Given the description of an element on the screen output the (x, y) to click on. 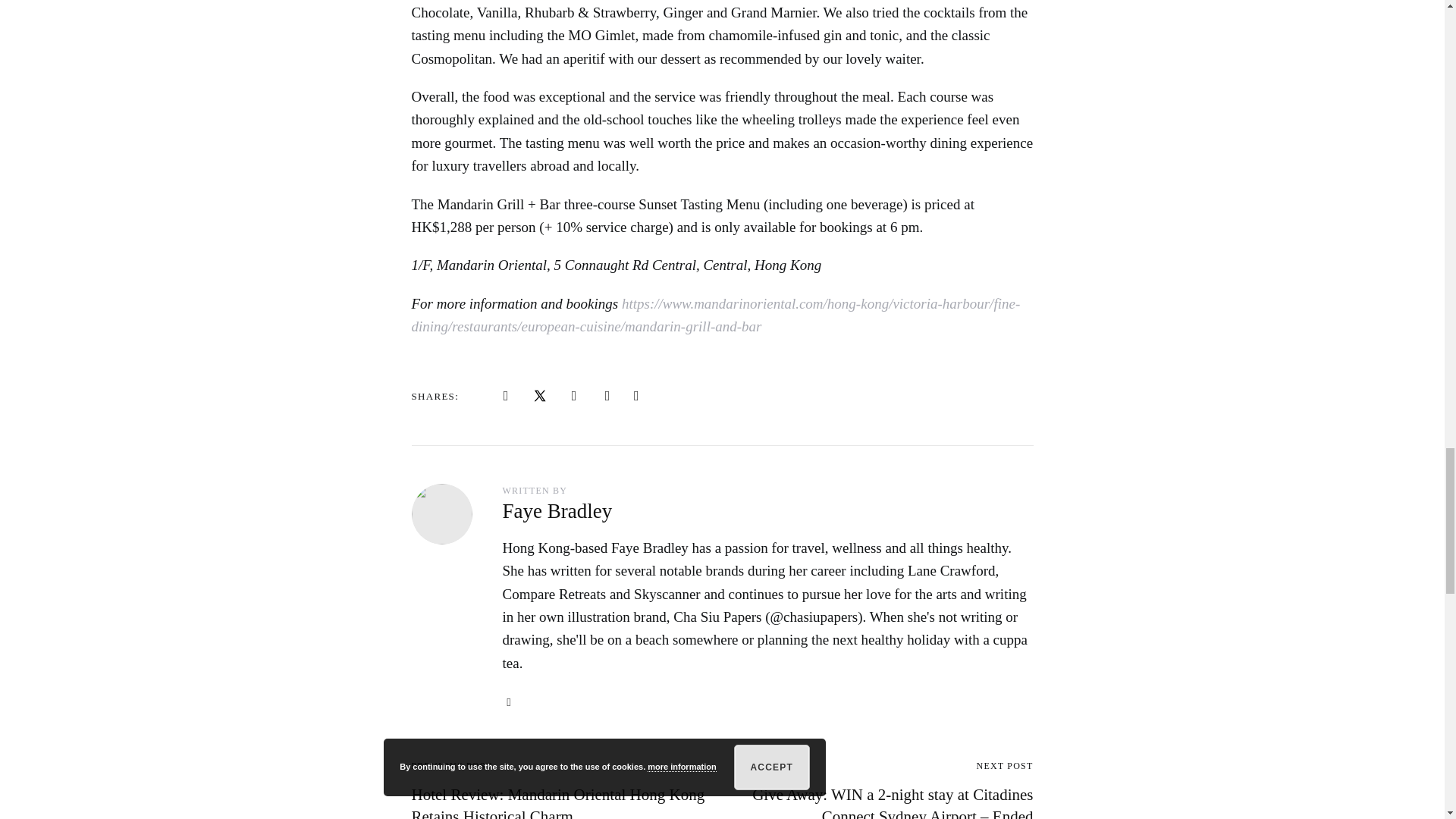
Pinterest (573, 395)
Email (509, 702)
Twitter (539, 395)
Email (606, 395)
Facebook (505, 395)
